Given the description of an element on the screen output the (x, y) to click on. 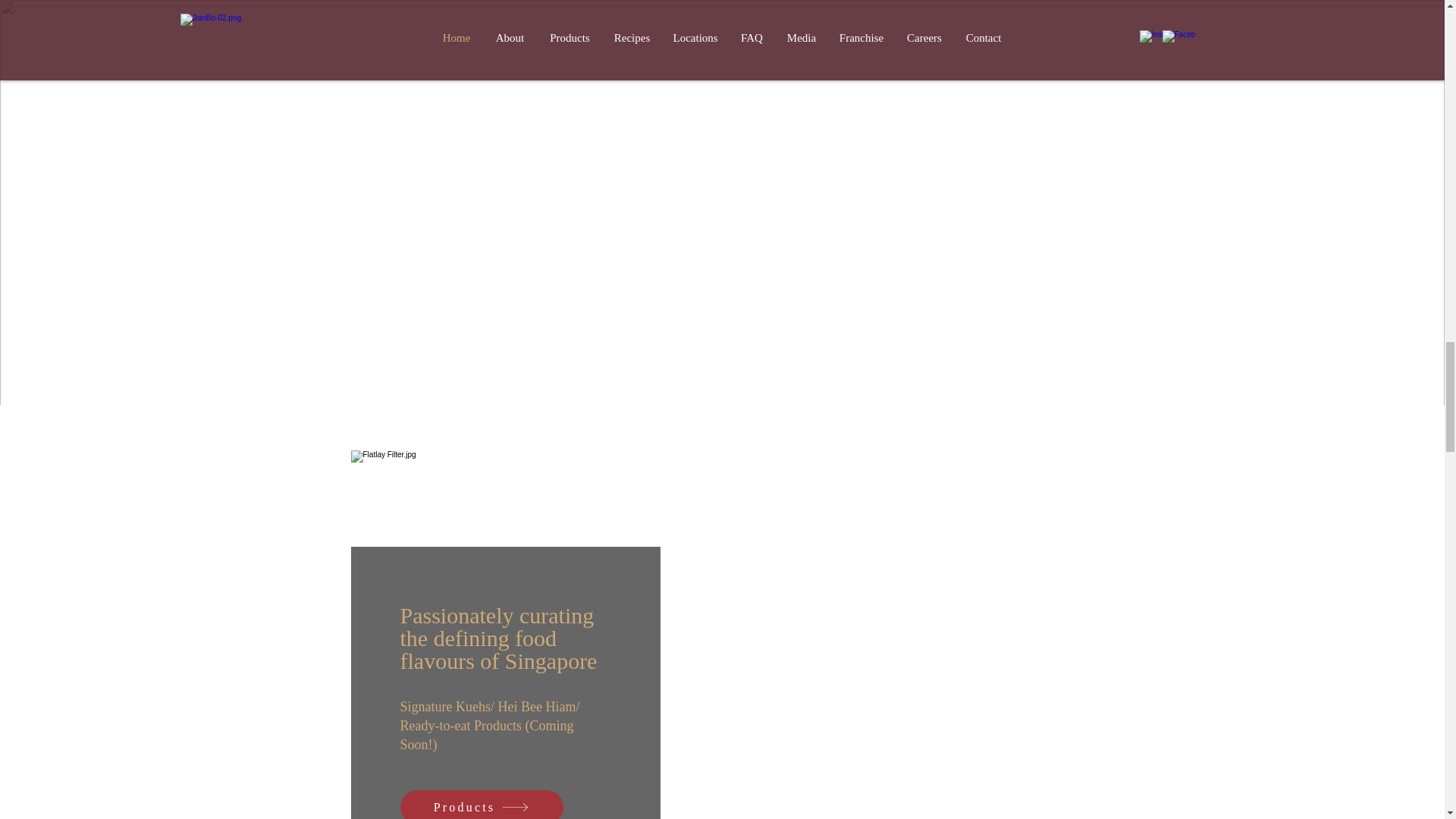
Products (481, 804)
